Given the description of an element on the screen output the (x, y) to click on. 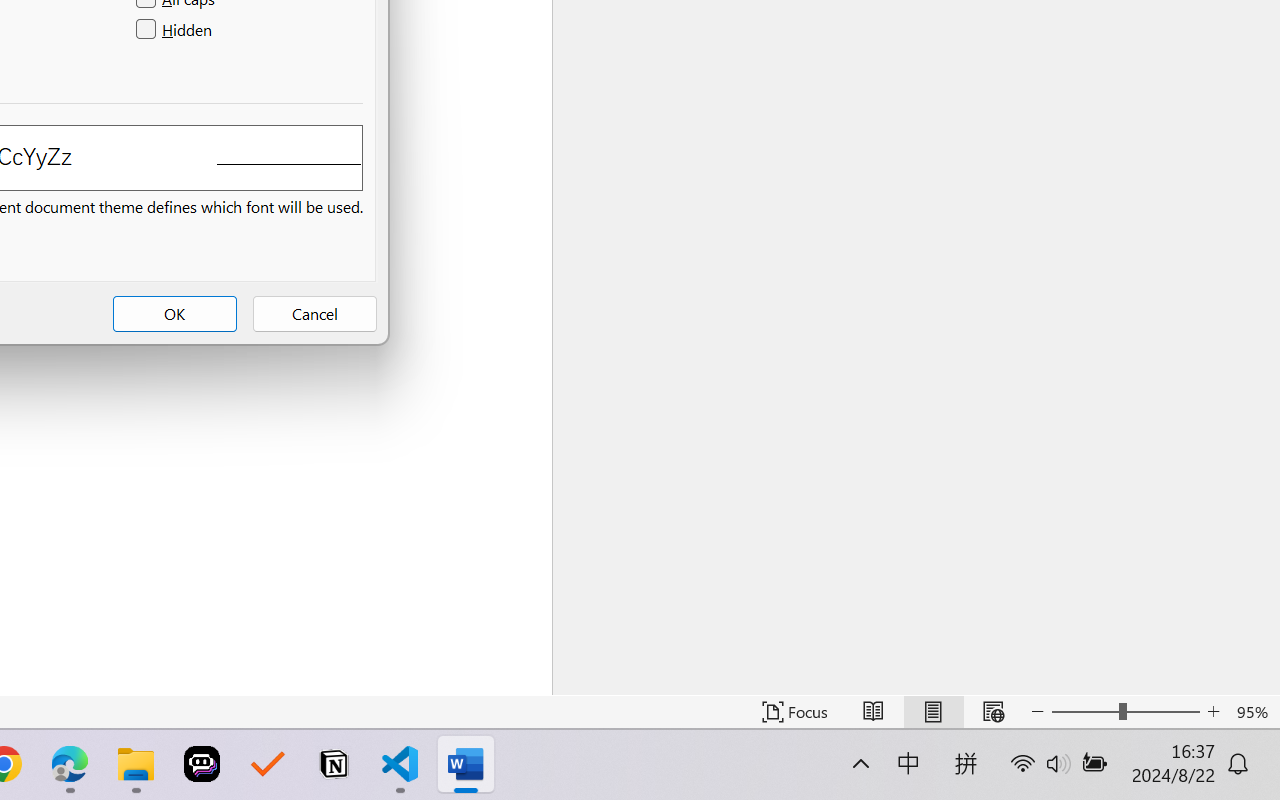
Zoom 95% (1253, 712)
OK (175, 313)
